Given the description of an element on the screen output the (x, y) to click on. 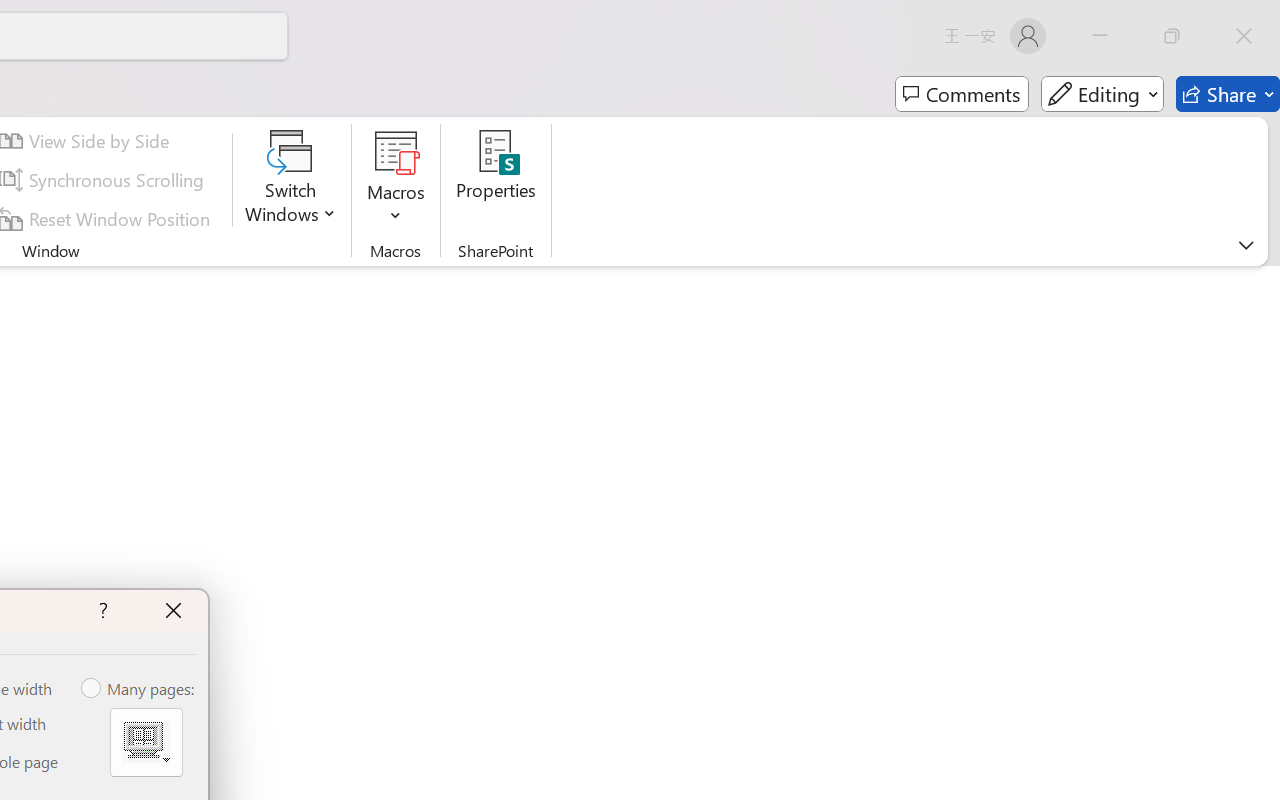
Editing (1101, 94)
Multiple Pages (146, 742)
Properties (496, 179)
Minimize (1099, 36)
Many pages: (139, 689)
Share (1228, 94)
Switch Windows (290, 179)
Macros (395, 179)
Restore Down (1172, 36)
View Macros (395, 151)
Close (1244, 36)
More Options (395, 208)
